Given the description of an element on the screen output the (x, y) to click on. 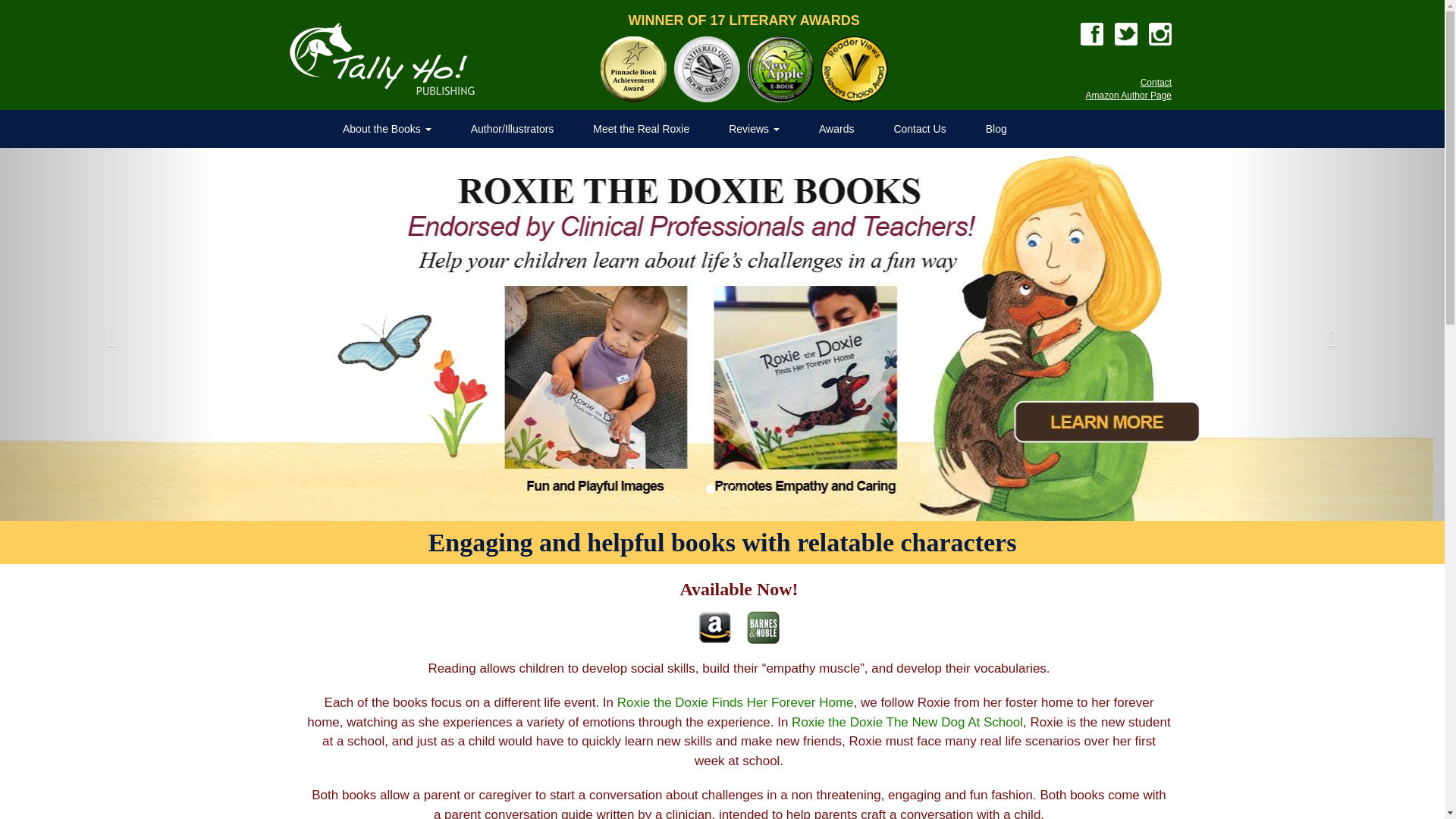
Contact Us (919, 128)
Reviews (754, 128)
Roxie the Doxie The New Dog At School (907, 721)
Roxie the Doxie Finds Her Forever Home (735, 702)
Meet the Real Roxie (641, 128)
About the Books (387, 128)
Blog (996, 128)
Awards (836, 128)
Awards (836, 128)
Amazon Author Page (1129, 95)
Meet the Real Roxie (641, 128)
Contact Us (919, 128)
About the Books (387, 128)
Contact (1156, 81)
Blog (996, 128)
